Given the description of an element on the screen output the (x, y) to click on. 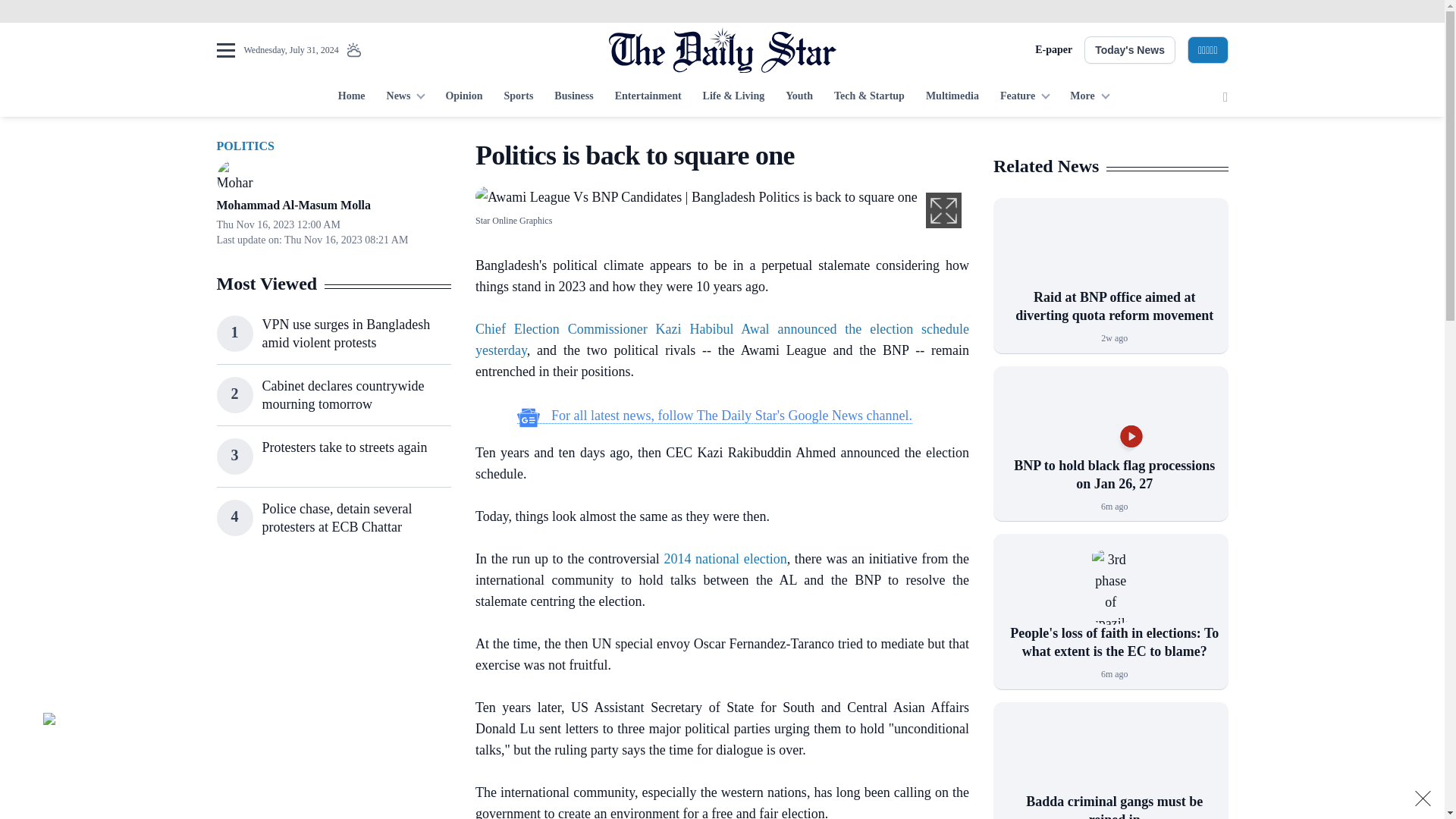
Entertainment (647, 96)
Opinion (463, 96)
Feature (1024, 96)
Multimedia (952, 96)
Awami League Vs BNP Candidates (696, 197)
Business (573, 96)
Badda criminal gangs must be reined in (1110, 755)
Youth (799, 96)
Home (351, 96)
Awami League Vs BNP Candidates (696, 195)
Sports (518, 96)
E-paper (1053, 49)
3rd phase of upazila polls (1110, 586)
Today's News (1129, 49)
